Given the description of an element on the screen output the (x, y) to click on. 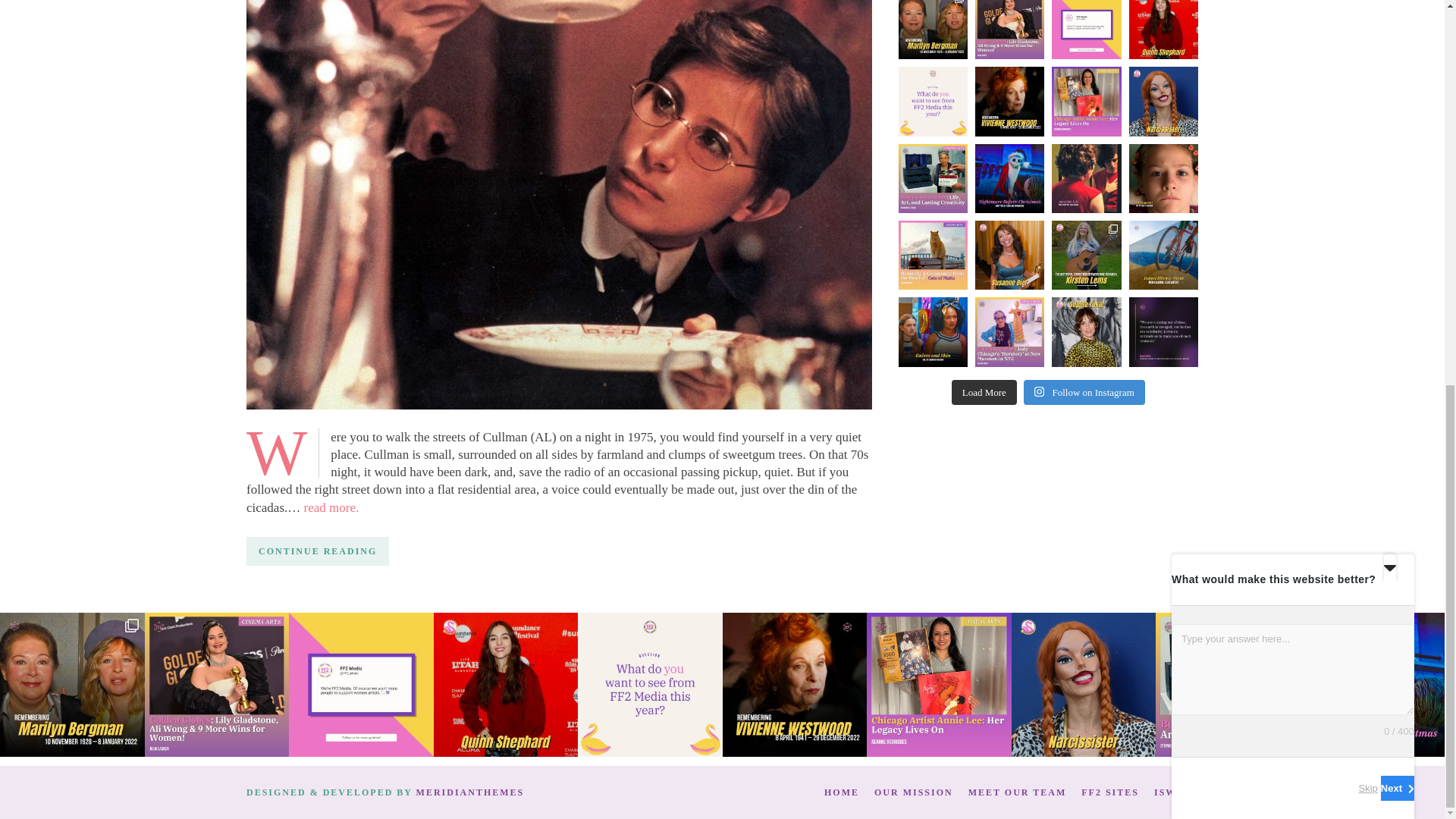
CONTINUE READING (317, 551)
read more. (331, 507)
